Given the description of an element on the screen output the (x, y) to click on. 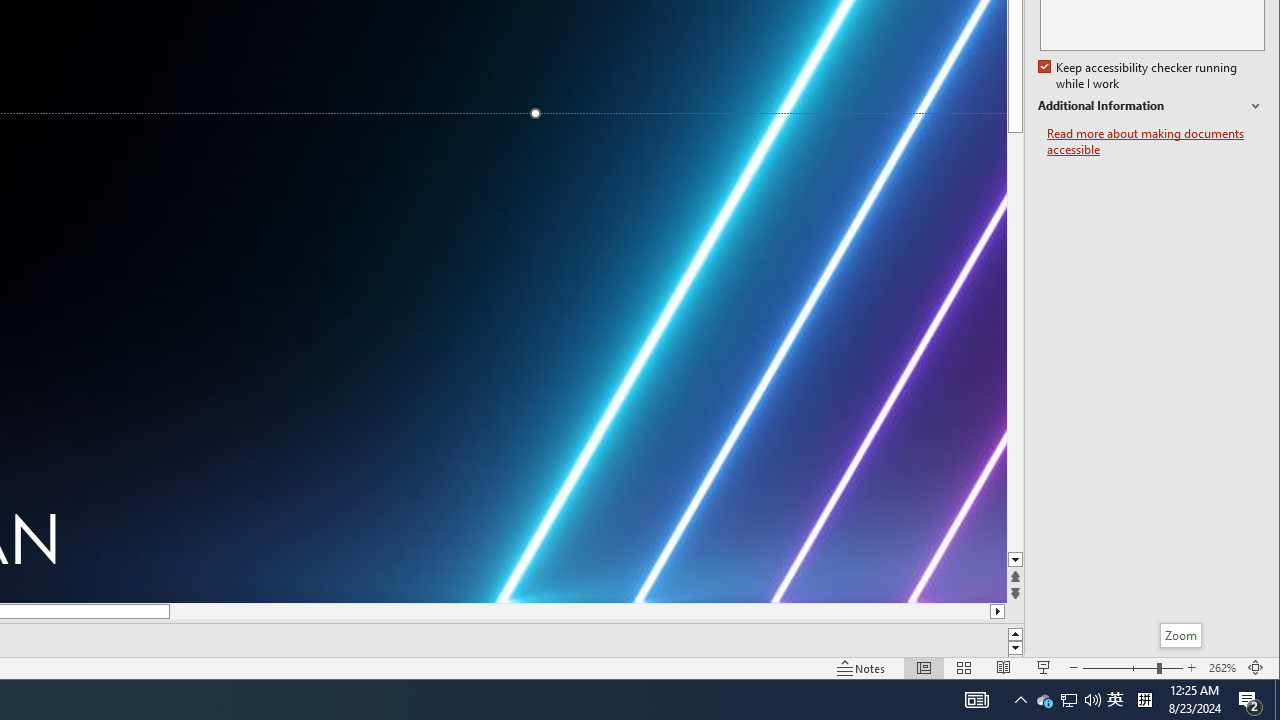
Line down (1044, 699)
Notes  (1015, 560)
Zoom to Fit  (861, 668)
Tray Input Indicator - Chinese (Simplified, China) (1256, 668)
Page down (1115, 699)
Zoom In (1144, 699)
Keep accessibility checker running while I work (1015, 342)
